Given the description of an element on the screen output the (x, y) to click on. 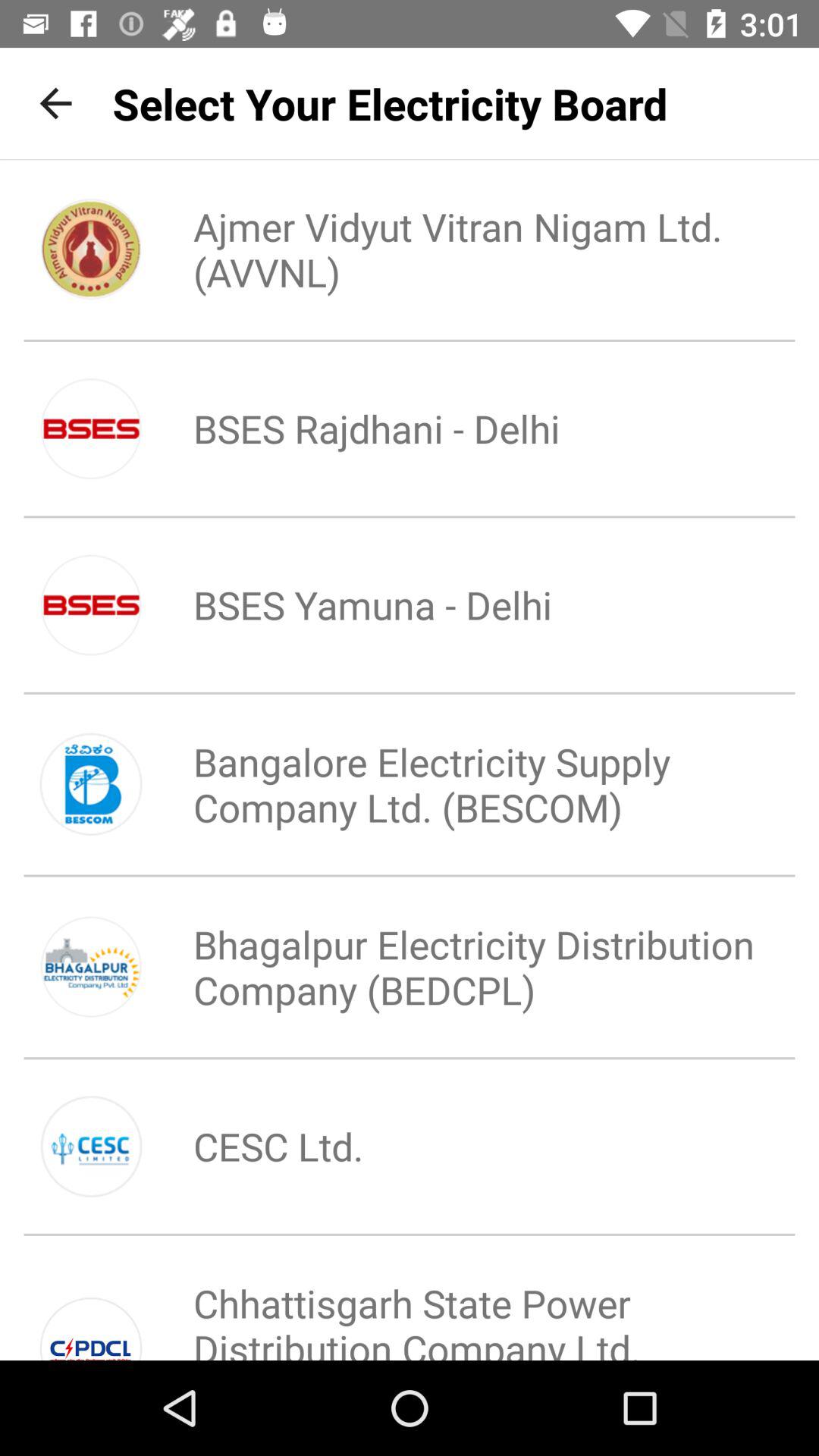
swipe until select your electricity icon (389, 103)
